Given the description of an element on the screen output the (x, y) to click on. 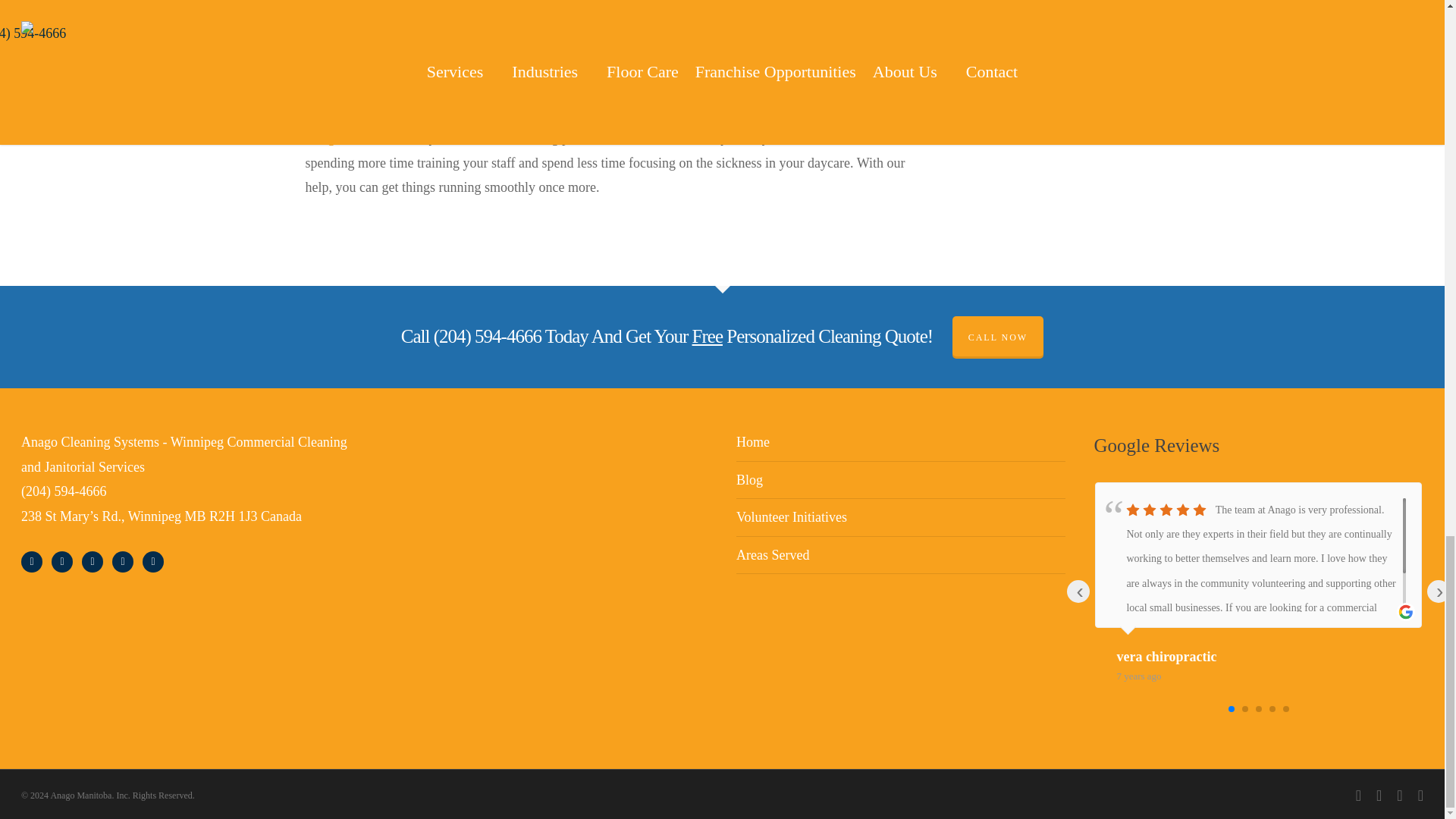
Anago (322, 137)
